Given the description of an element on the screen output the (x, y) to click on. 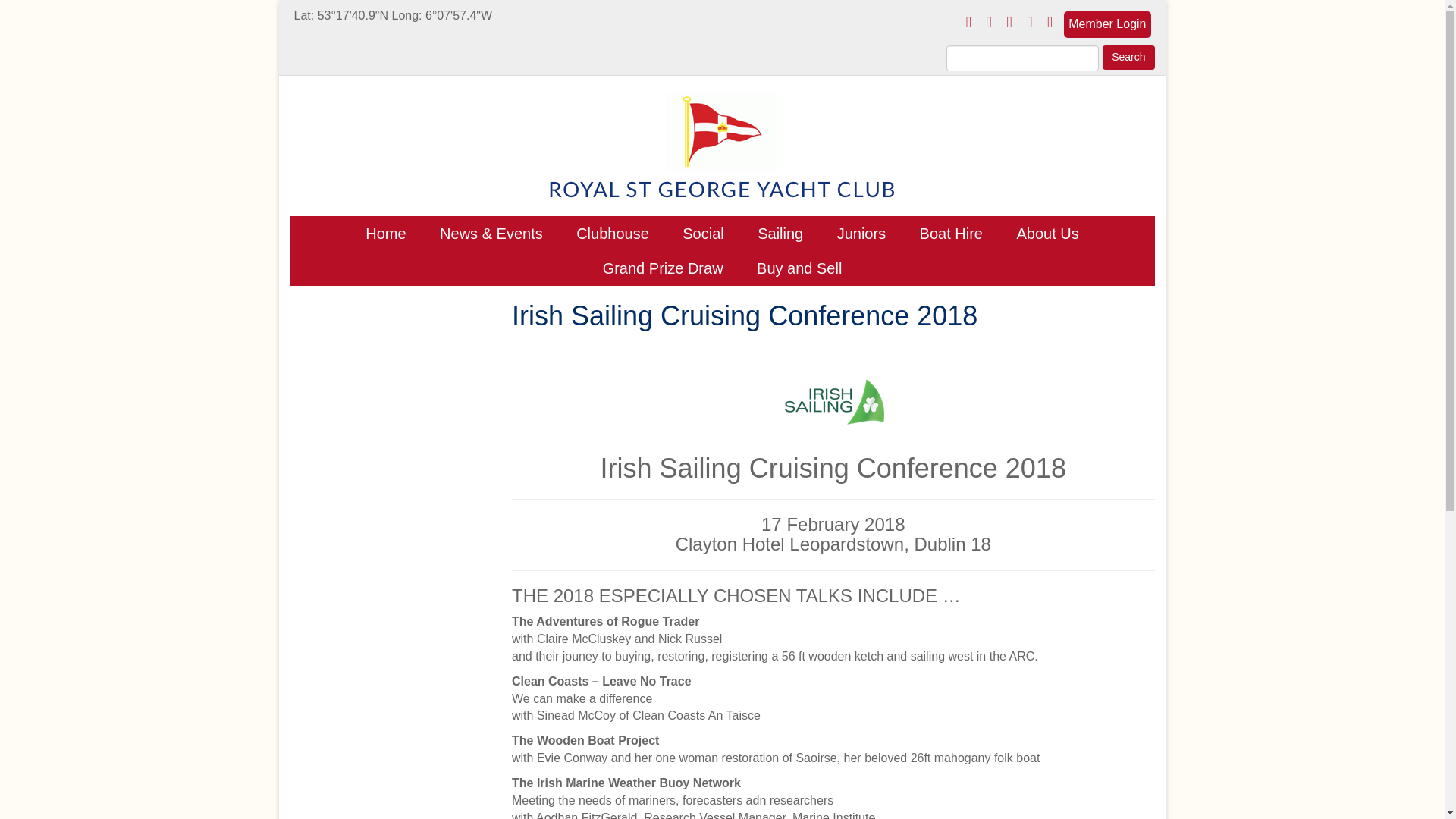
Search (1128, 57)
Search (1128, 57)
Home (385, 233)
Clubhouse (611, 233)
Search (1128, 57)
Member Login (1107, 24)
Social (702, 233)
